Given the description of an element on the screen output the (x, y) to click on. 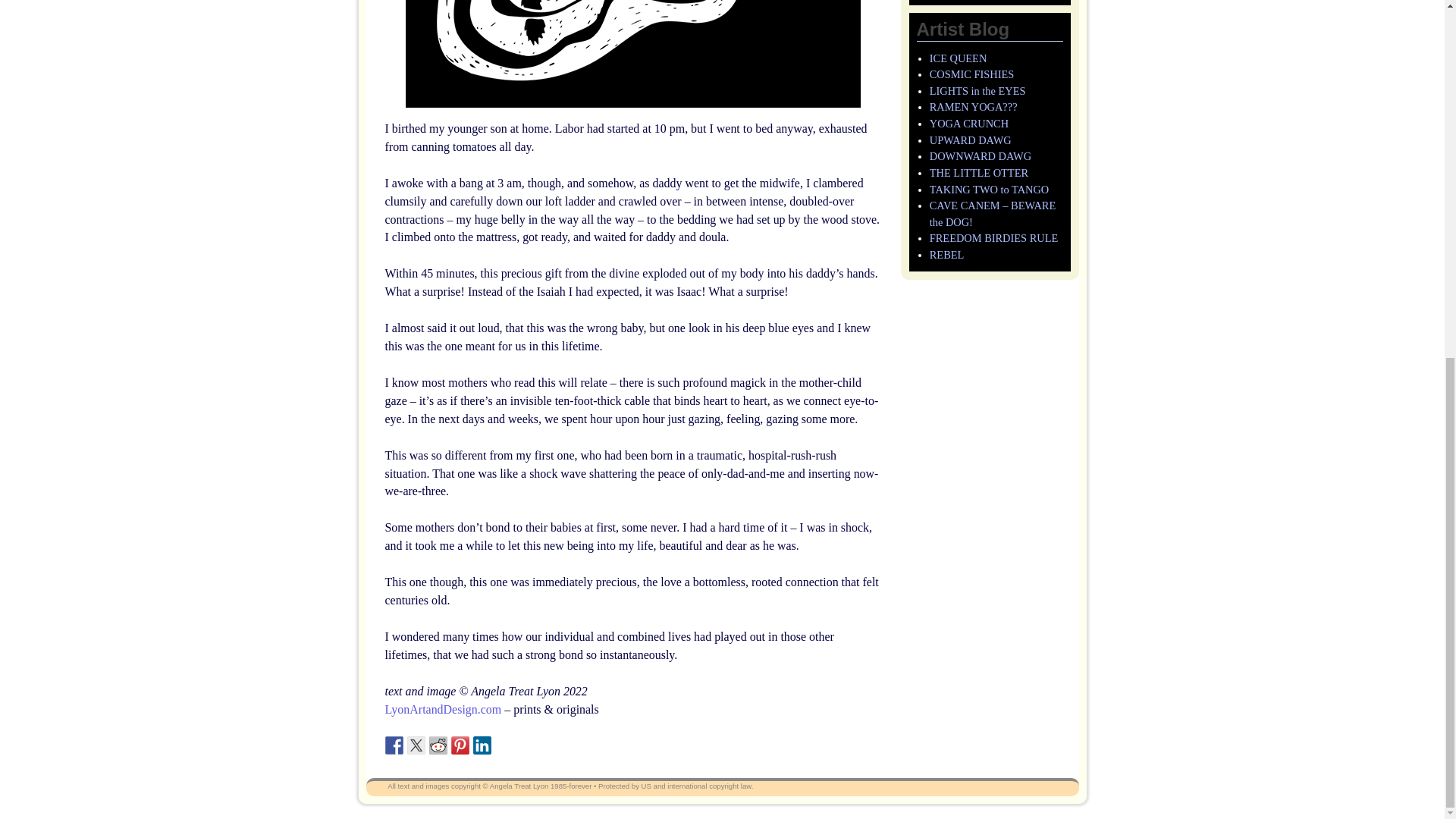
Share on Linkedin (482, 745)
Share on Twitter (415, 745)
Pin it with Pinterest (458, 745)
Share on Reddit (437, 745)
Share on Facebook (394, 745)
